Given the description of an element on the screen output the (x, y) to click on. 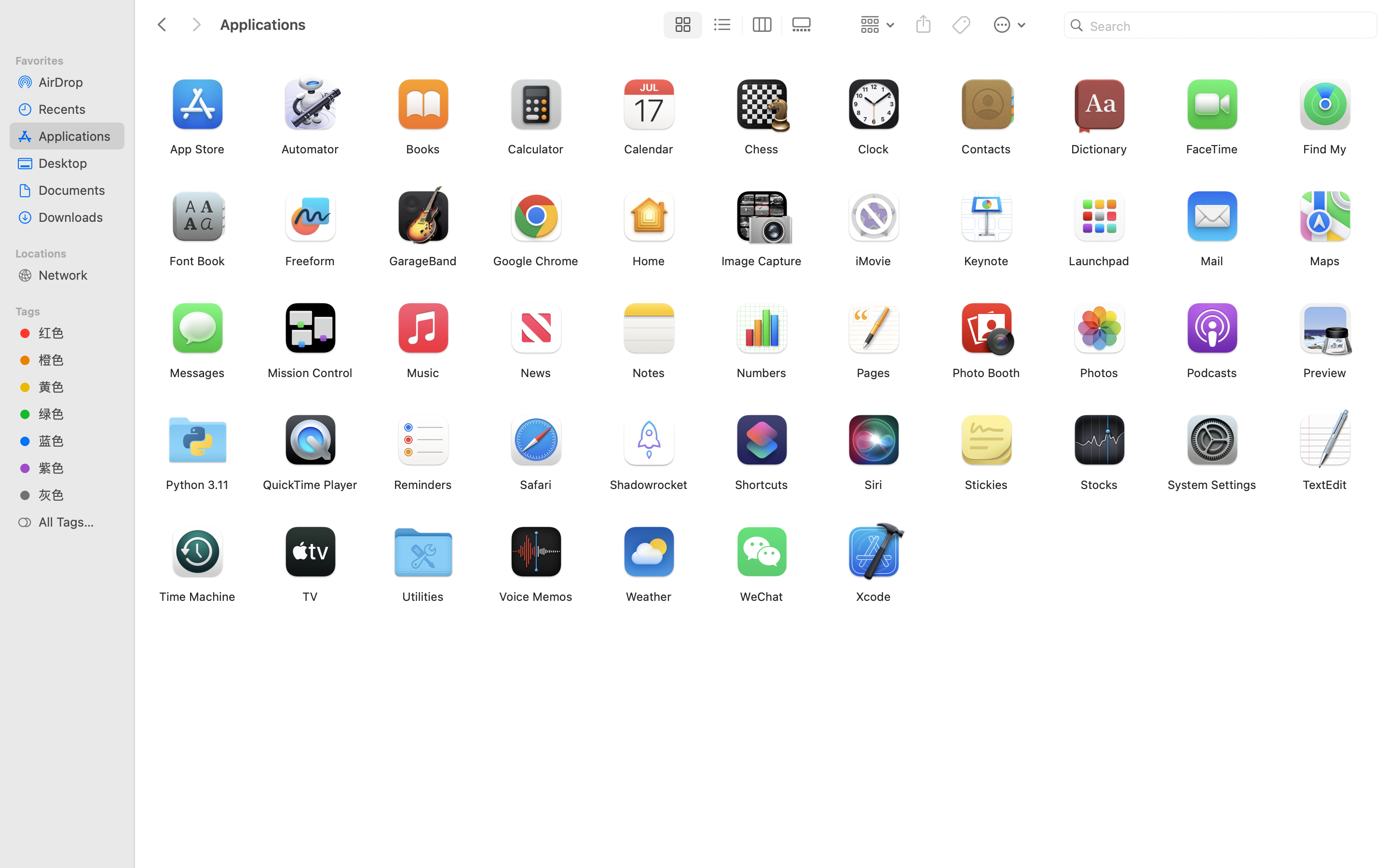
Locations Element type: AXStaticText (72, 252)
紫色 Element type: AXStaticText (77, 467)
Network Element type: AXStaticText (77, 274)
Applications Element type: AXStaticText (437, 827)
Documents Element type: AXStaticText (77, 189)
